Given the description of an element on the screen output the (x, y) to click on. 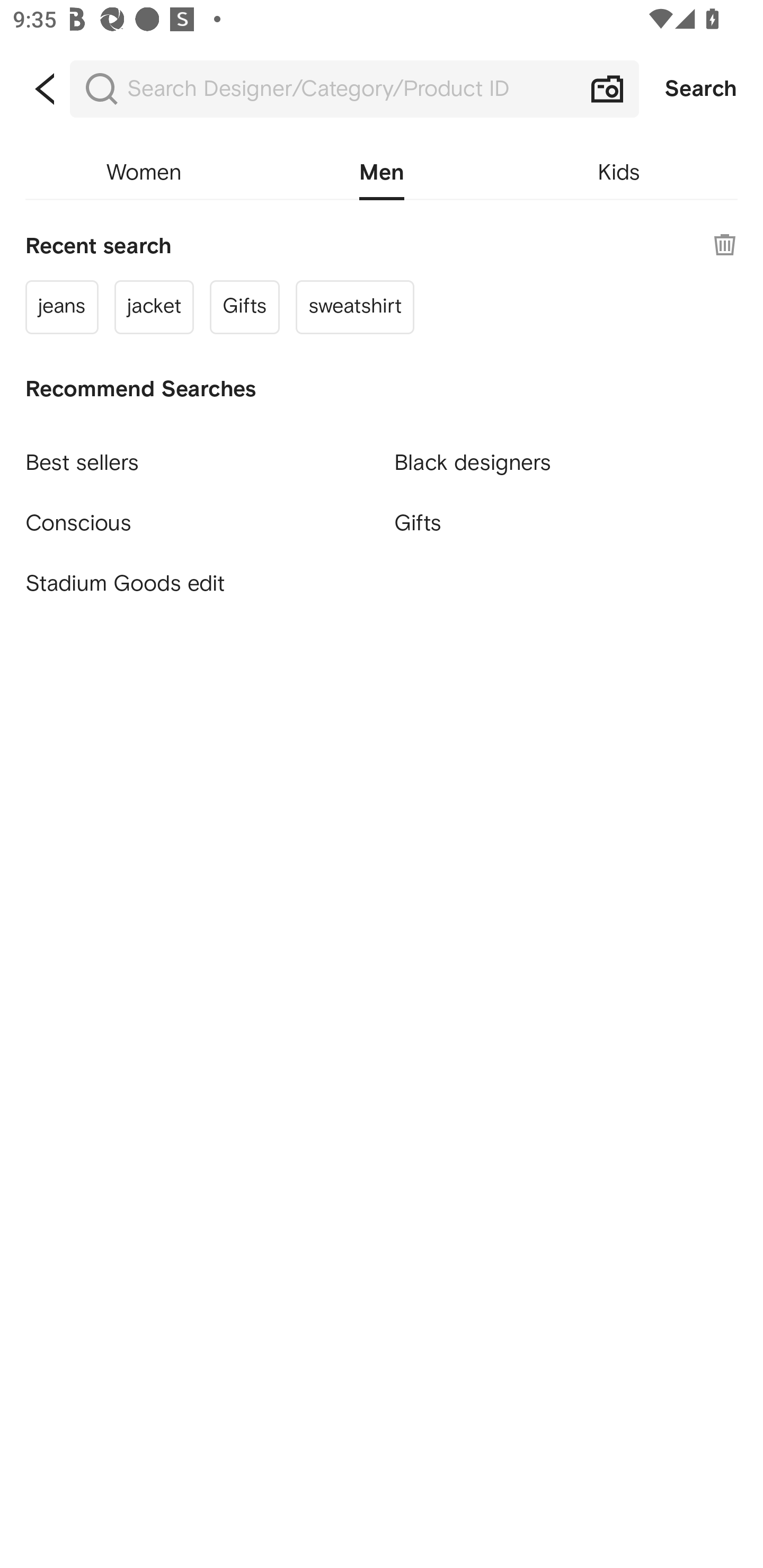
Search (701, 89)
Women (143, 172)
Kids (618, 172)
jeans (61, 306)
jacket (153, 306)
Gifts (244, 306)
sweatshirt (354, 306)
Best sellers (196, 454)
Black designers (565, 454)
Conscious (196, 514)
Gifts (565, 522)
Stadium Goods edit (196, 583)
